Given the description of an element on the screen output the (x, y) to click on. 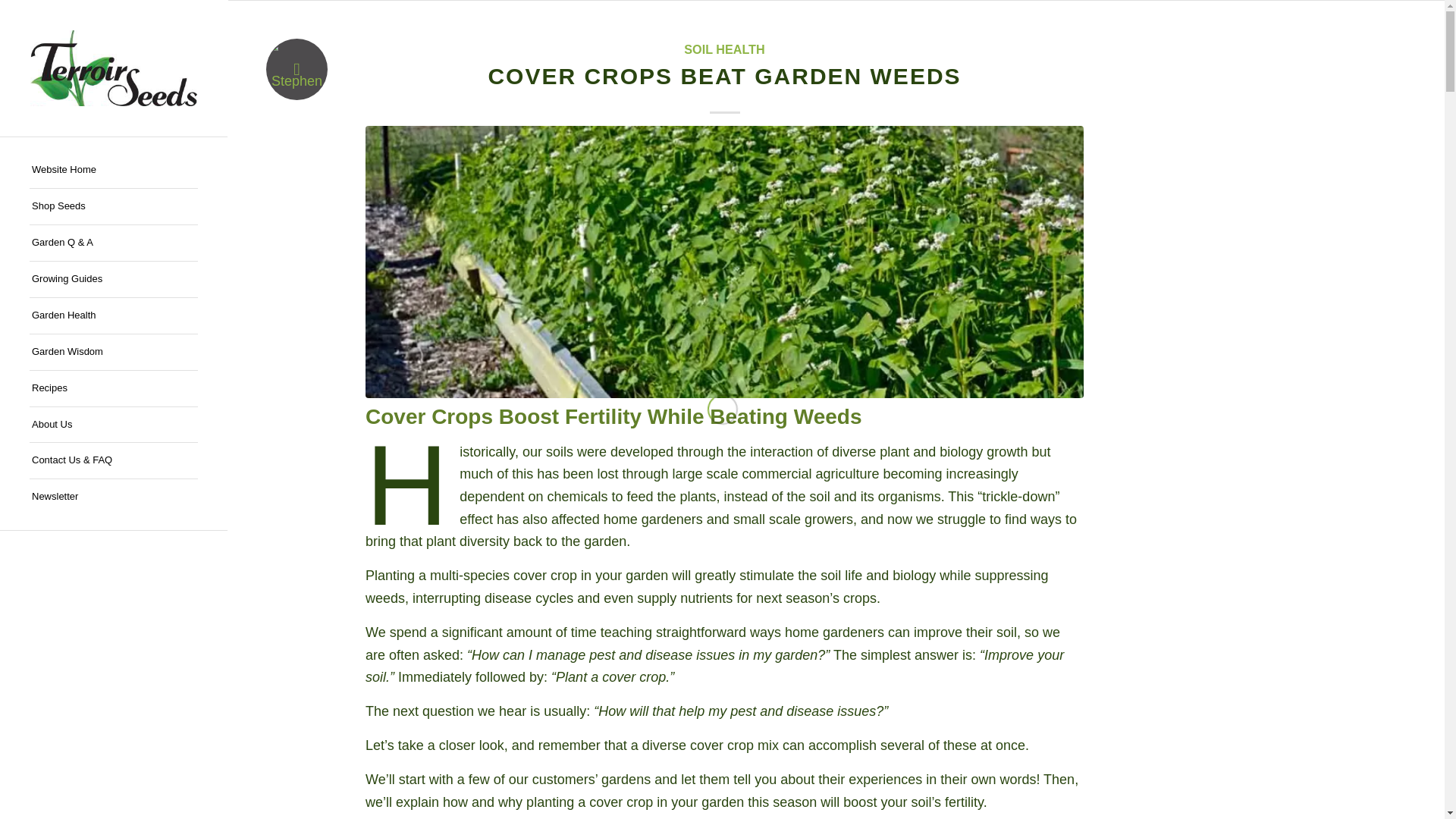
Newsletter (113, 497)
Recipes (113, 389)
About Us (113, 425)
Newsletter (113, 497)
Garden Philosophy (113, 352)
Recipes (113, 389)
Terroir Seeds Main Logo (113, 68)
Website Home (113, 170)
Shop Seeds (113, 207)
